Given the description of an element on the screen output the (x, y) to click on. 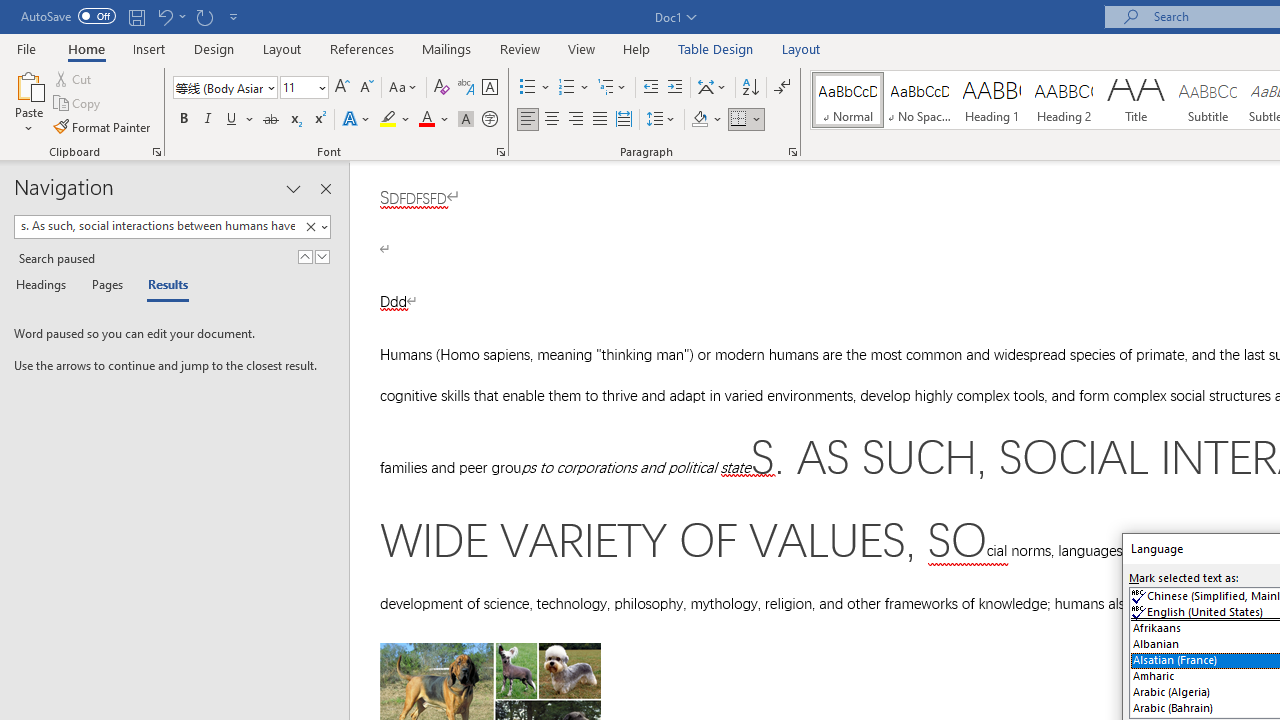
Close pane (325, 188)
Previous Result (304, 256)
Asian Layout (712, 87)
Font (224, 87)
Borders (739, 119)
Home (86, 48)
Paste (28, 84)
Clear (310, 227)
Headings (45, 285)
Grow Font (342, 87)
More Options (757, 119)
Change Case (404, 87)
Office Clipboard... (156, 151)
Borders (746, 119)
